Given the description of an element on the screen output the (x, y) to click on. 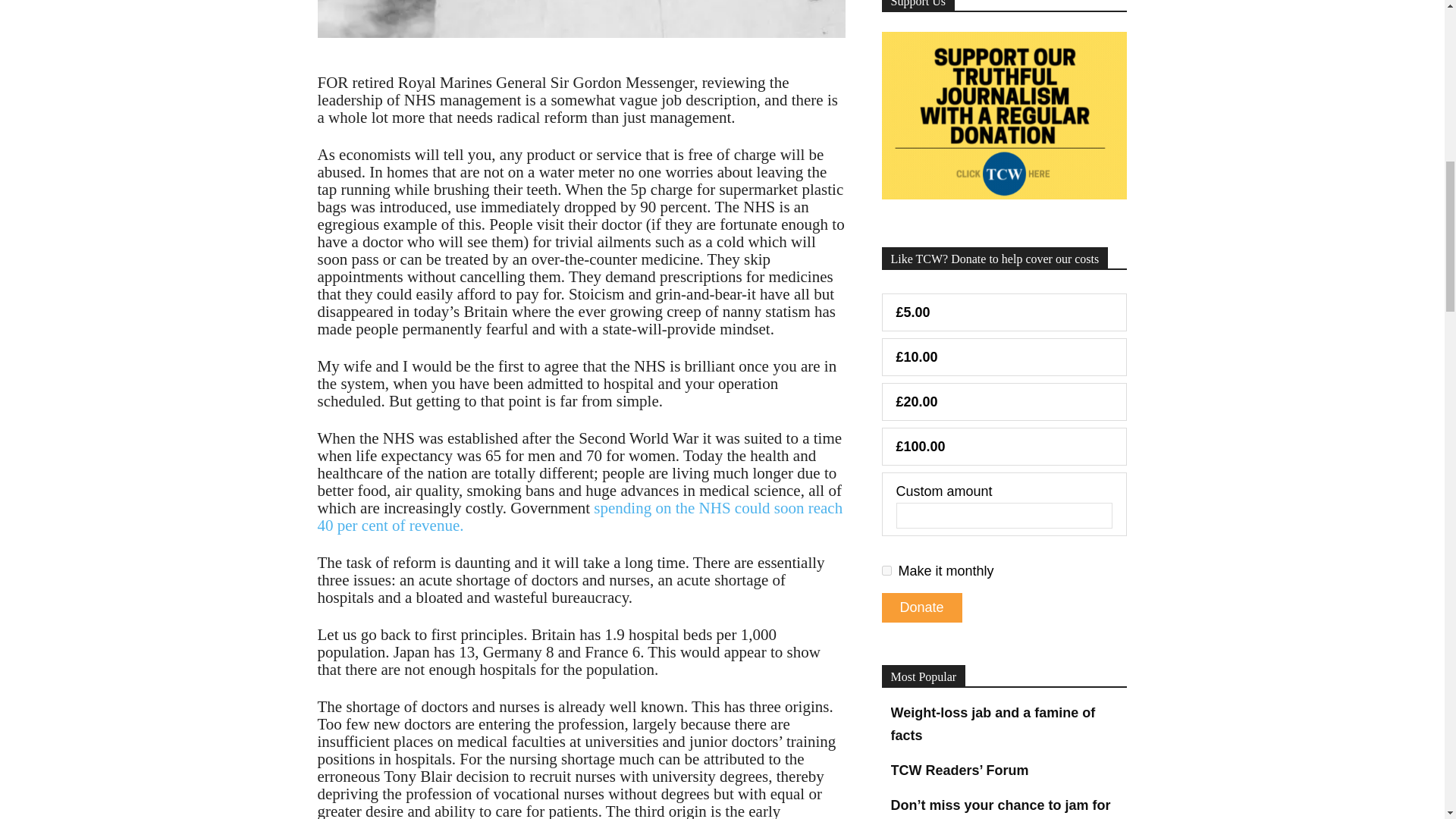
month (885, 570)
